Given the description of an element on the screen output the (x, y) to click on. 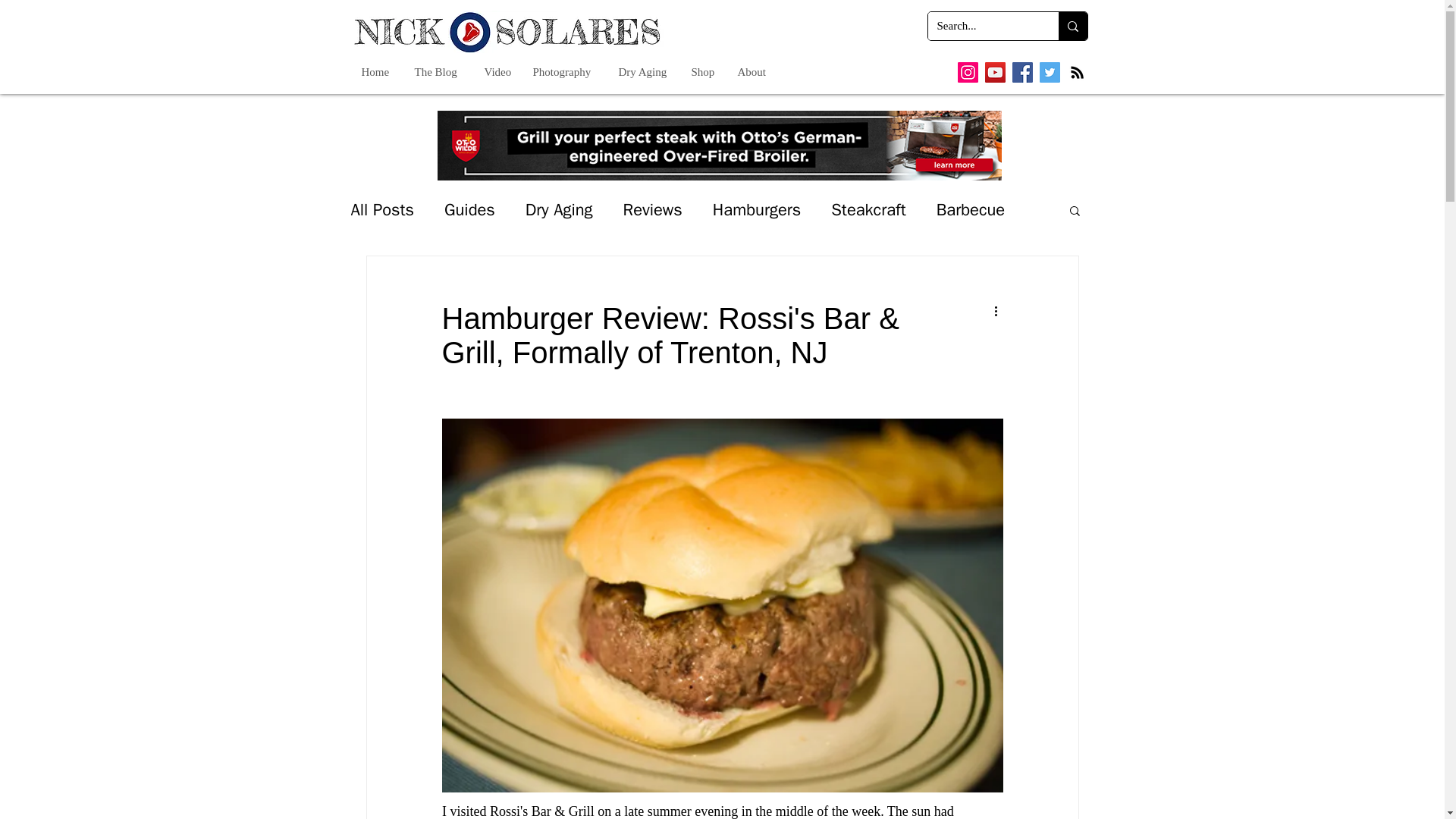
Photography (564, 71)
About (751, 71)
Hamburgers (756, 210)
Steakcraft (868, 210)
Video (497, 71)
Reviews (652, 210)
Dry Aging (644, 71)
Home (376, 71)
Shop (703, 71)
Dry Aging (558, 210)
